Given the description of an element on the screen output the (x, y) to click on. 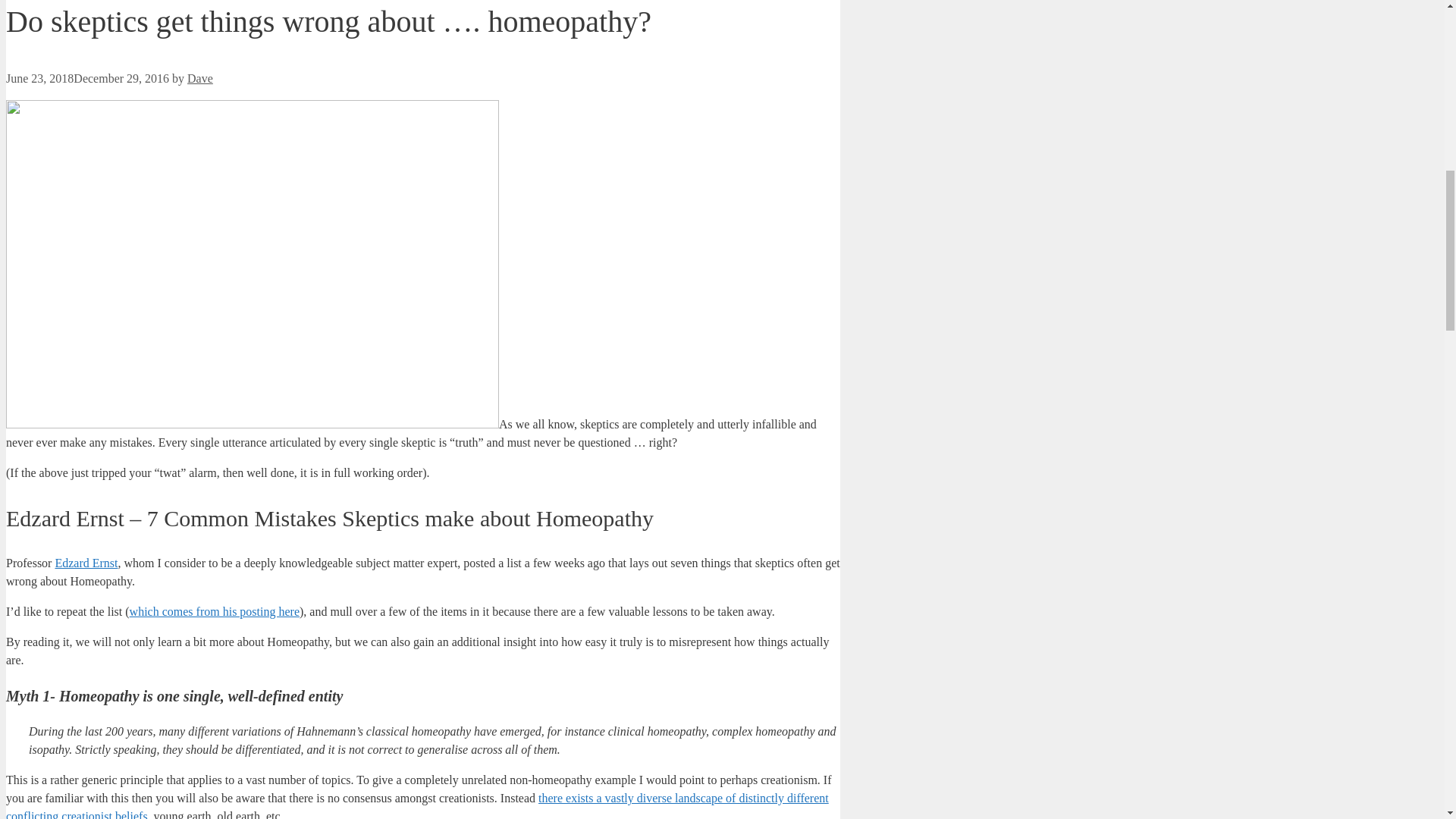
which comes from his posting here (214, 611)
View all posts by Dave (199, 78)
Edzard Ernst (86, 562)
Dave (199, 78)
